Given the description of an element on the screen output the (x, y) to click on. 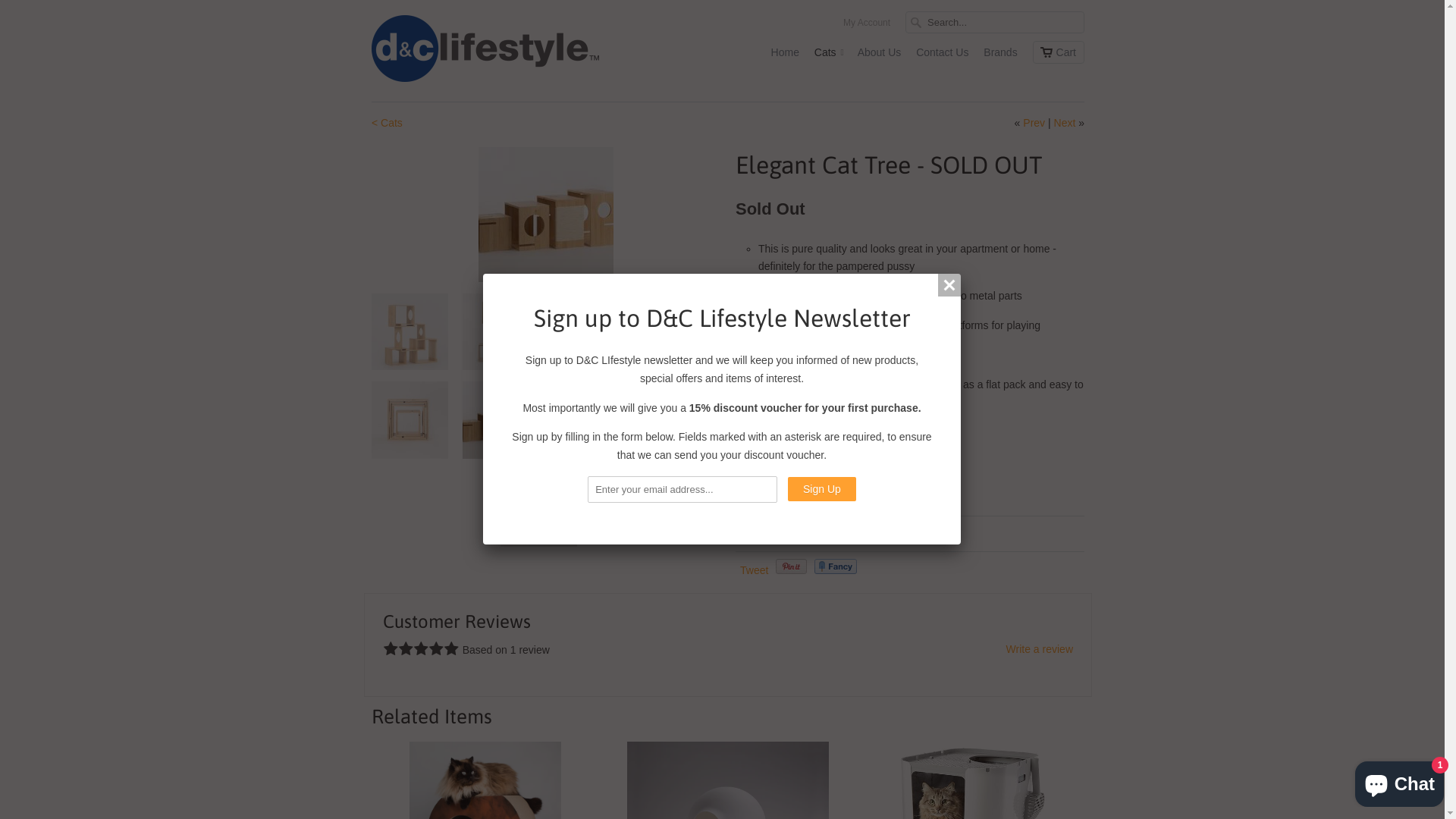
< Cats Element type: text (386, 122)
Elegant Cat Tree - SOLD OUT Element type: hover (545, 214)
Fancy Element type: text (835, 566)
Cart Element type: text (1058, 51)
My Account Element type: text (866, 26)
D&C Lifestyle Element type: hover (485, 50)
Home Element type: text (785, 55)
Next Element type: text (1065, 122)
Pin It Element type: text (790, 566)
Accessories Element type: text (788, 533)
Close Element type: hover (949, 284)
Elegant Cat Tree - SOLD OUT Element type: hover (196, 214)
About Us Element type: text (879, 55)
Write a review Element type: text (1039, 649)
Prev Element type: text (1033, 122)
Brands Element type: text (999, 55)
Contact Us Element type: text (942, 55)
Tweet Element type: text (754, 570)
Sign Up Element type: text (821, 488)
Shopify online store chat Element type: hover (1399, 780)
